Given the description of an element on the screen output the (x, y) to click on. 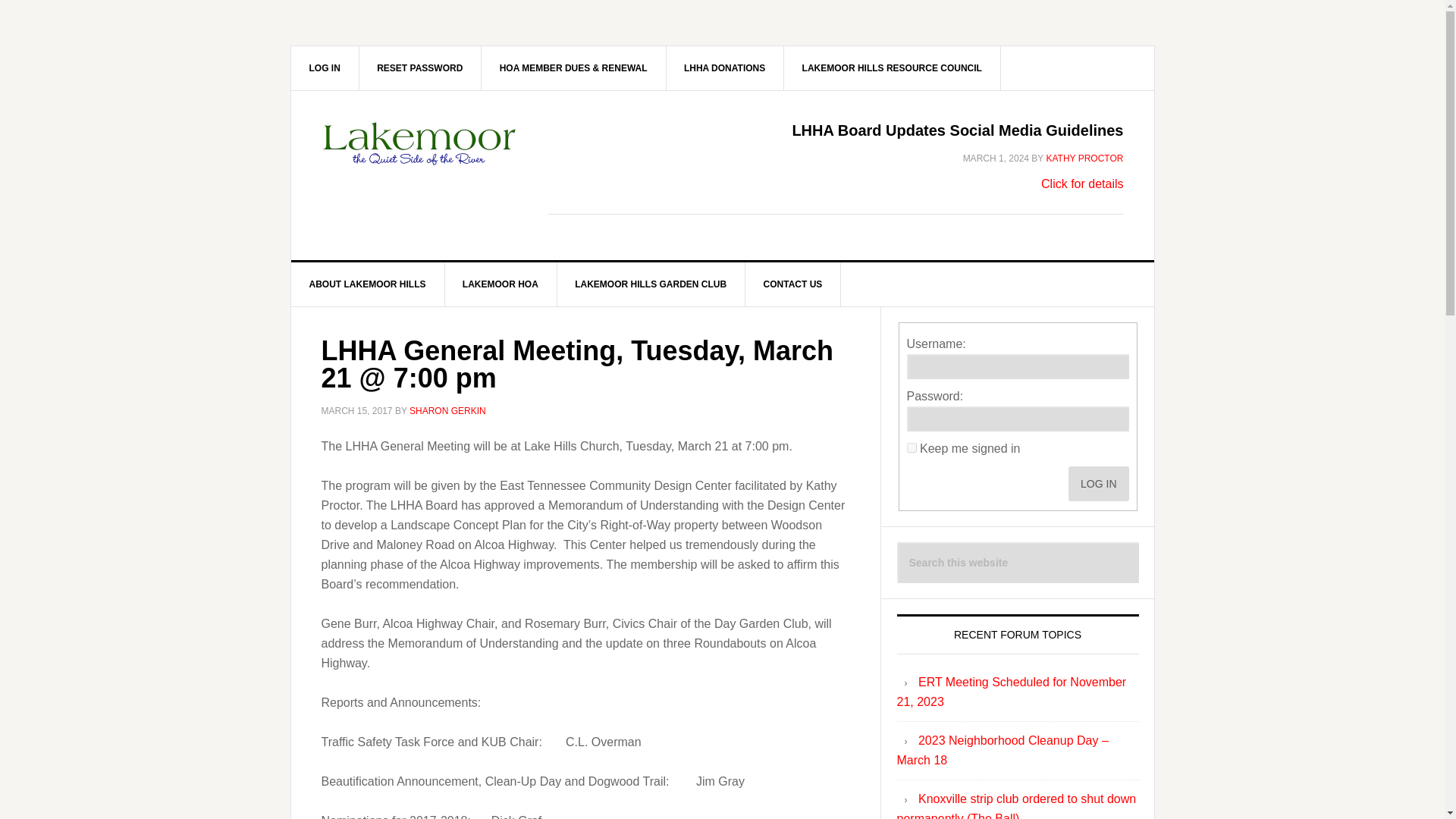
LOG IN (325, 67)
LHHA Board Updates Social Media Guidelines (957, 130)
SHARON GERKIN (447, 409)
forever (912, 447)
LAKEMOOR HILLS RESOURCE COUNCIL (892, 67)
ERT Meeting Scheduled for November 21, 2023 (1010, 691)
LOG IN (1098, 483)
ABOUT LAKEMOOR HILLS (368, 284)
RESET PASSWORD (419, 67)
LHHA DONATIONS (724, 67)
KATHY PROCTOR (1083, 158)
CONTACT US (793, 284)
LAKEMOOR HOA (500, 284)
